Given the description of an element on the screen output the (x, y) to click on. 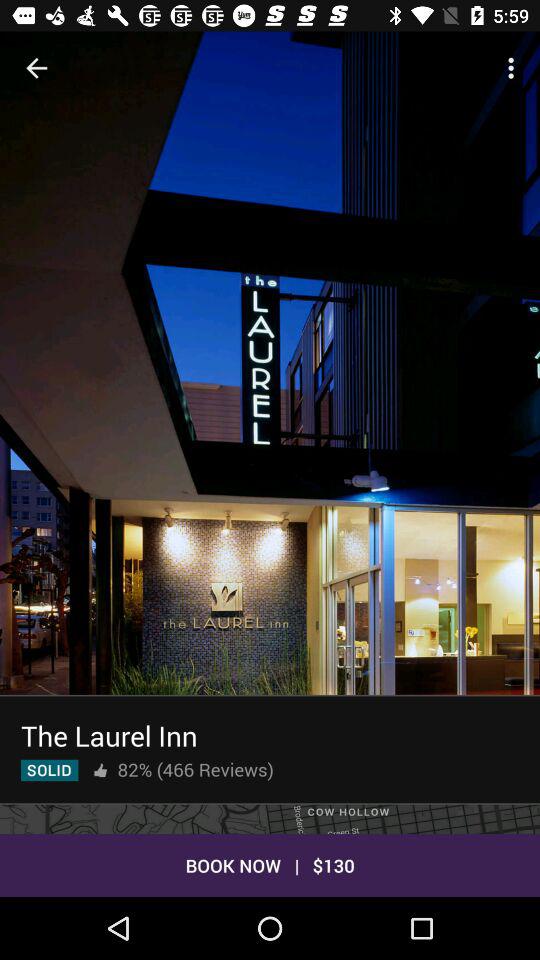
press book now   |   $130 (270, 864)
